Given the description of an element on the screen output the (x, y) to click on. 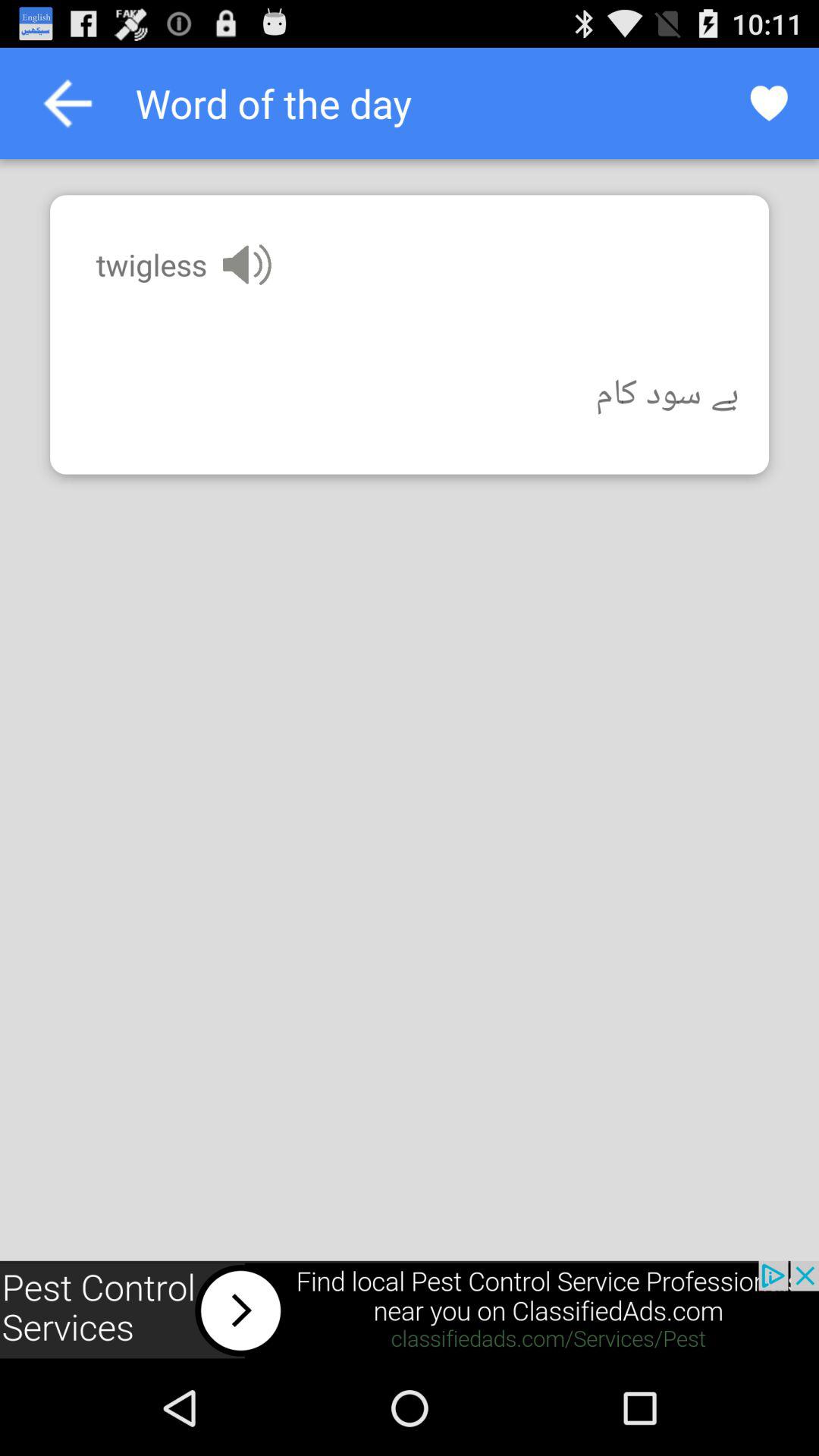
advertisement about pest control services (409, 1310)
